Given the description of an element on the screen output the (x, y) to click on. 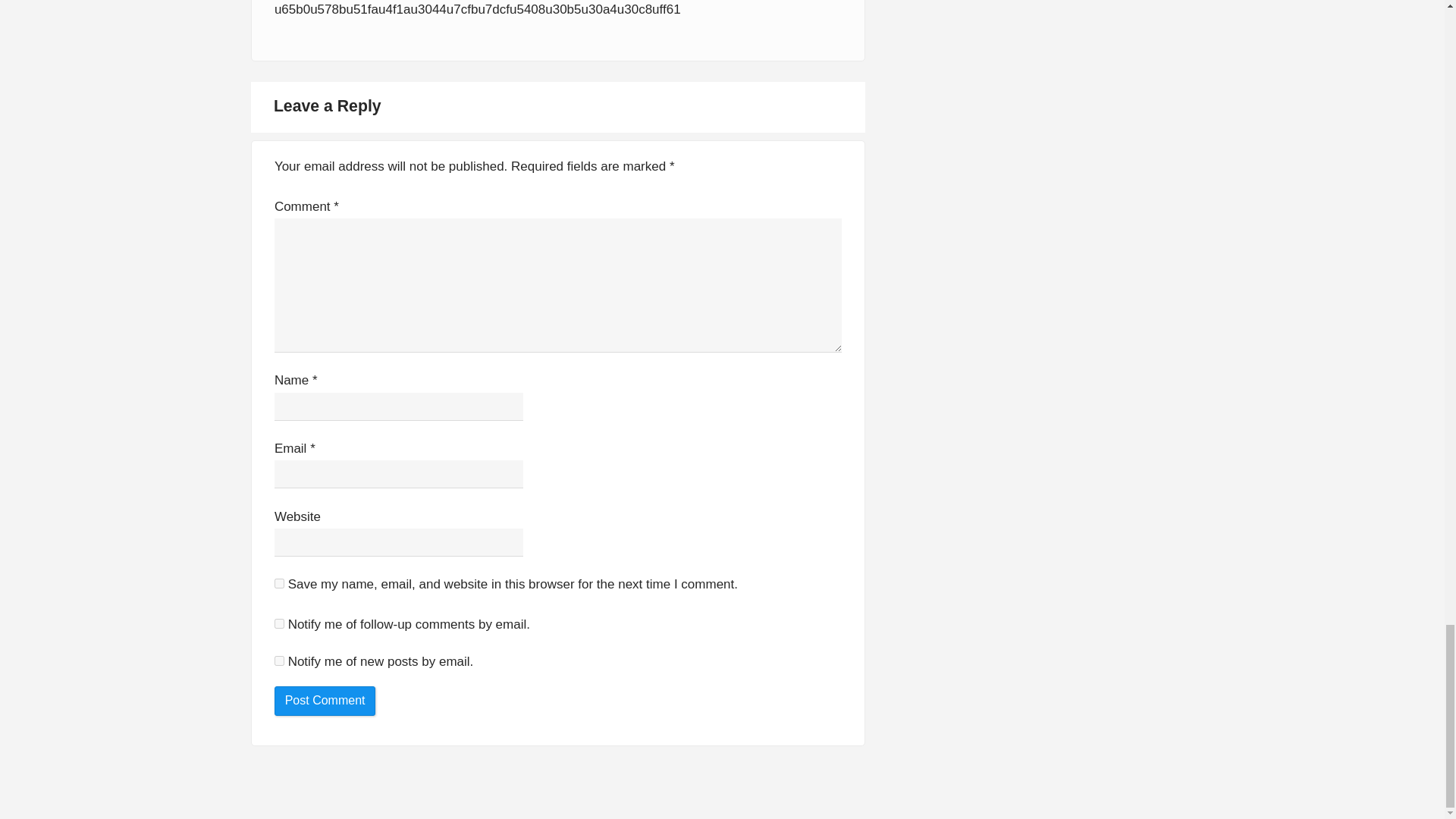
subscribe (279, 660)
Post Comment (325, 700)
subscribe (279, 623)
Post Comment (325, 700)
yes (279, 583)
